Given the description of an element on the screen output the (x, y) to click on. 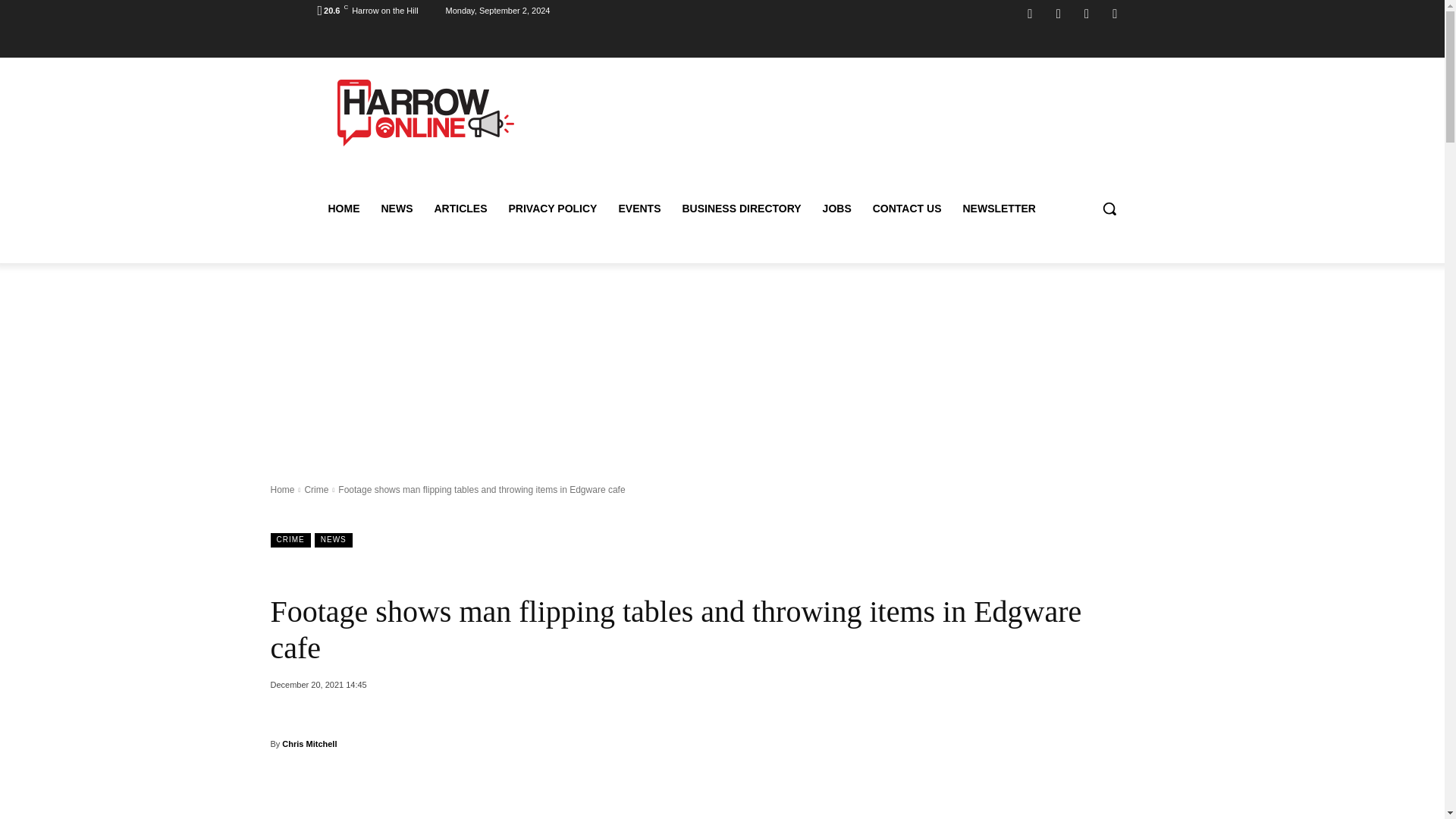
JOBS (836, 208)
PRIVACY POLICY (552, 208)
Facebook (1029, 13)
NEWSLETTER (998, 208)
CONTACT US (906, 208)
NEWS (396, 208)
HOME (343, 208)
ARTICLES (460, 208)
TikTok (1086, 13)
Instagram (1058, 13)
